Given the description of an element on the screen output the (x, y) to click on. 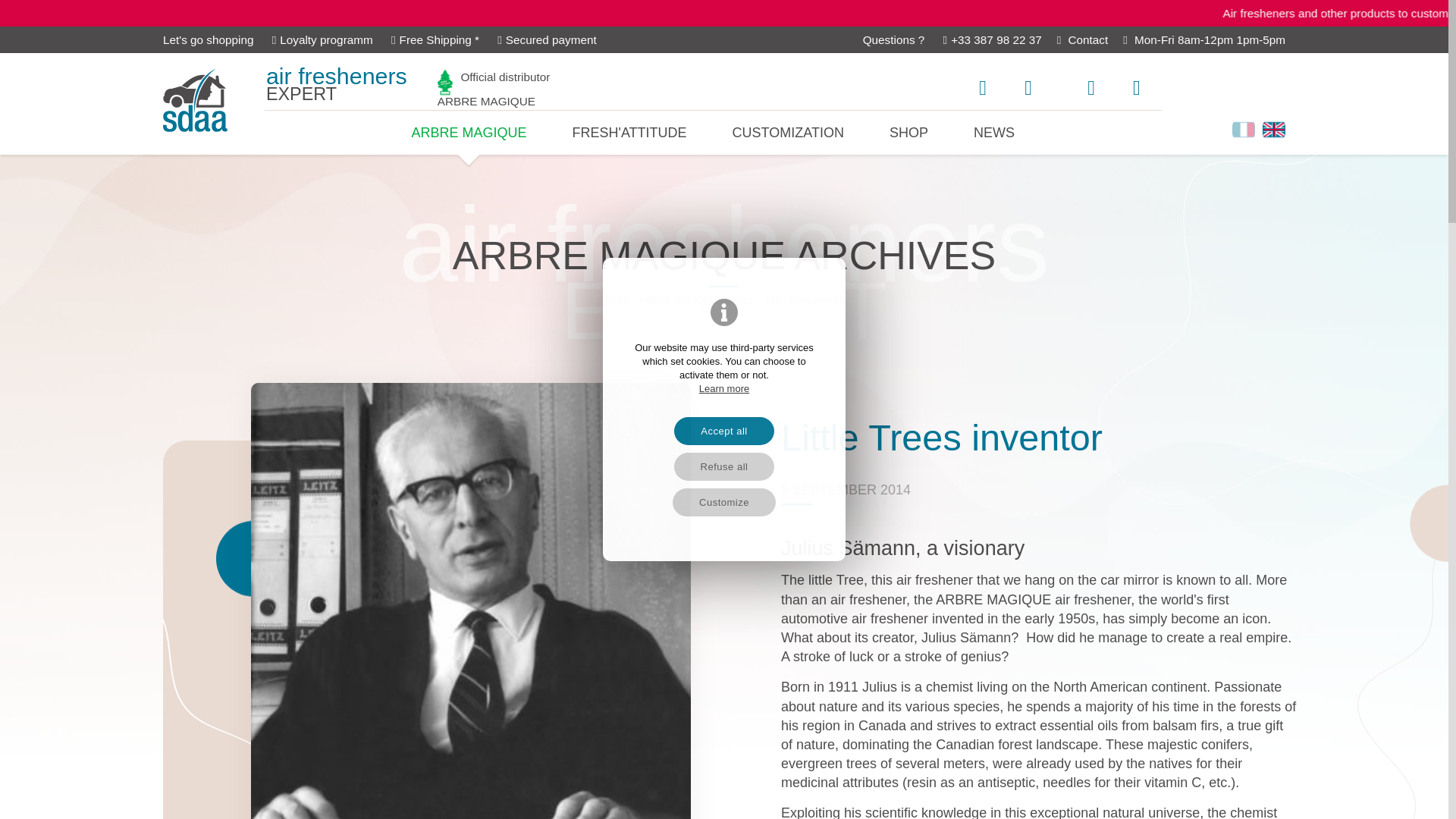
Let's go shopping (208, 39)
Contact (1082, 39)
Loyalty programm  (322, 39)
Refuse all (724, 466)
FRESH'ATTITUDE (628, 132)
Let's go shopping (208, 39)
Secured payment  (546, 39)
Contact (494, 89)
Loyalty programm (1082, 39)
ARBRE MAGIQUE (322, 39)
Customize (468, 132)
Sdaa France (724, 502)
Accept all (336, 85)
